Given the description of an element on the screen output the (x, y) to click on. 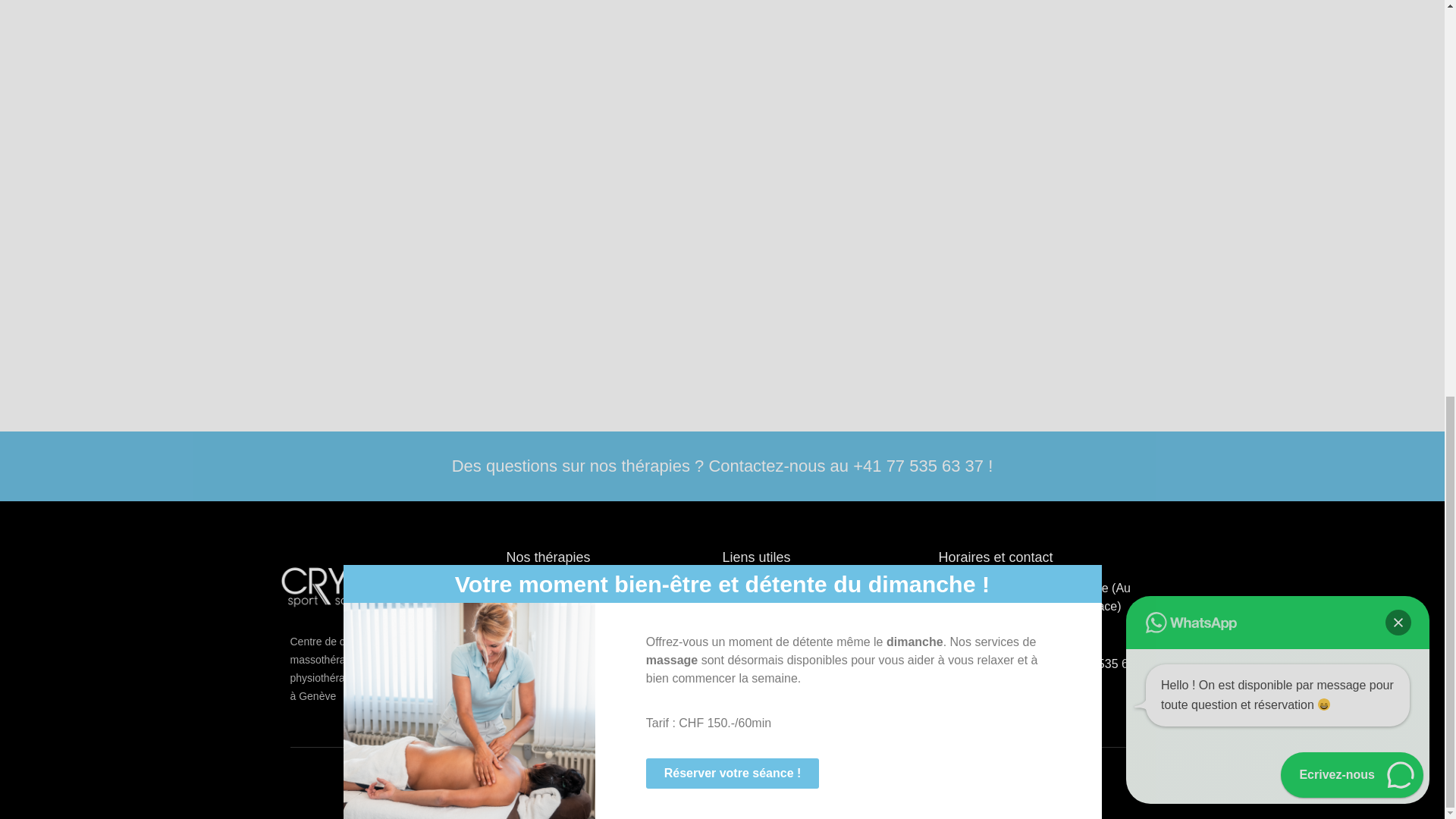
Accueil (829, 592)
Osteopathie (614, 643)
